Given the description of an element on the screen output the (x, y) to click on. 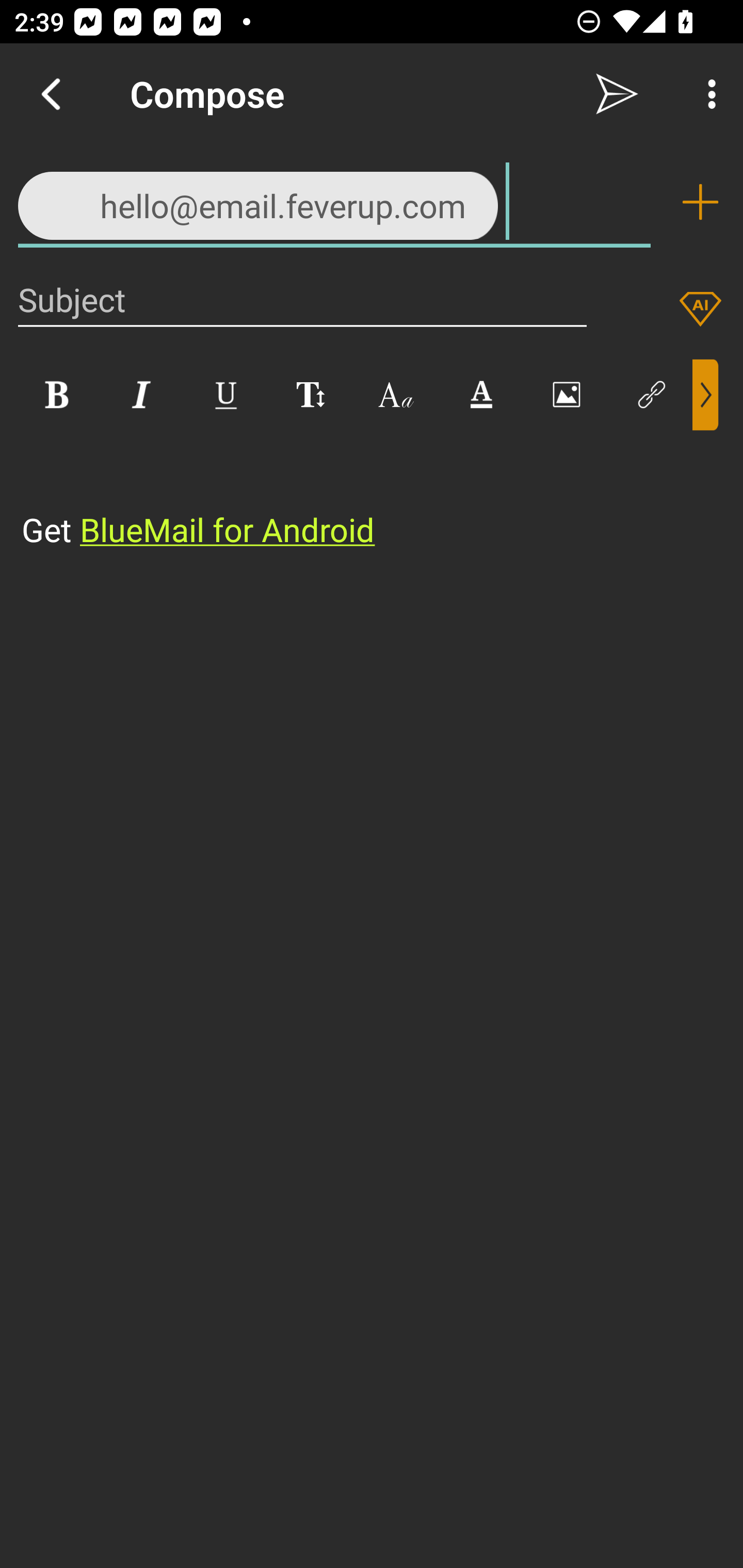
Navigate up (50, 93)
Send (616, 93)
More Options (706, 93)
<hello@email.feverup.com>,  (334, 201)
Add recipient (To) (699, 201)
Subject (302, 299)


⁣Get BlueMail for Android ​ (355, 491)
